Given the description of an element on the screen output the (x, y) to click on. 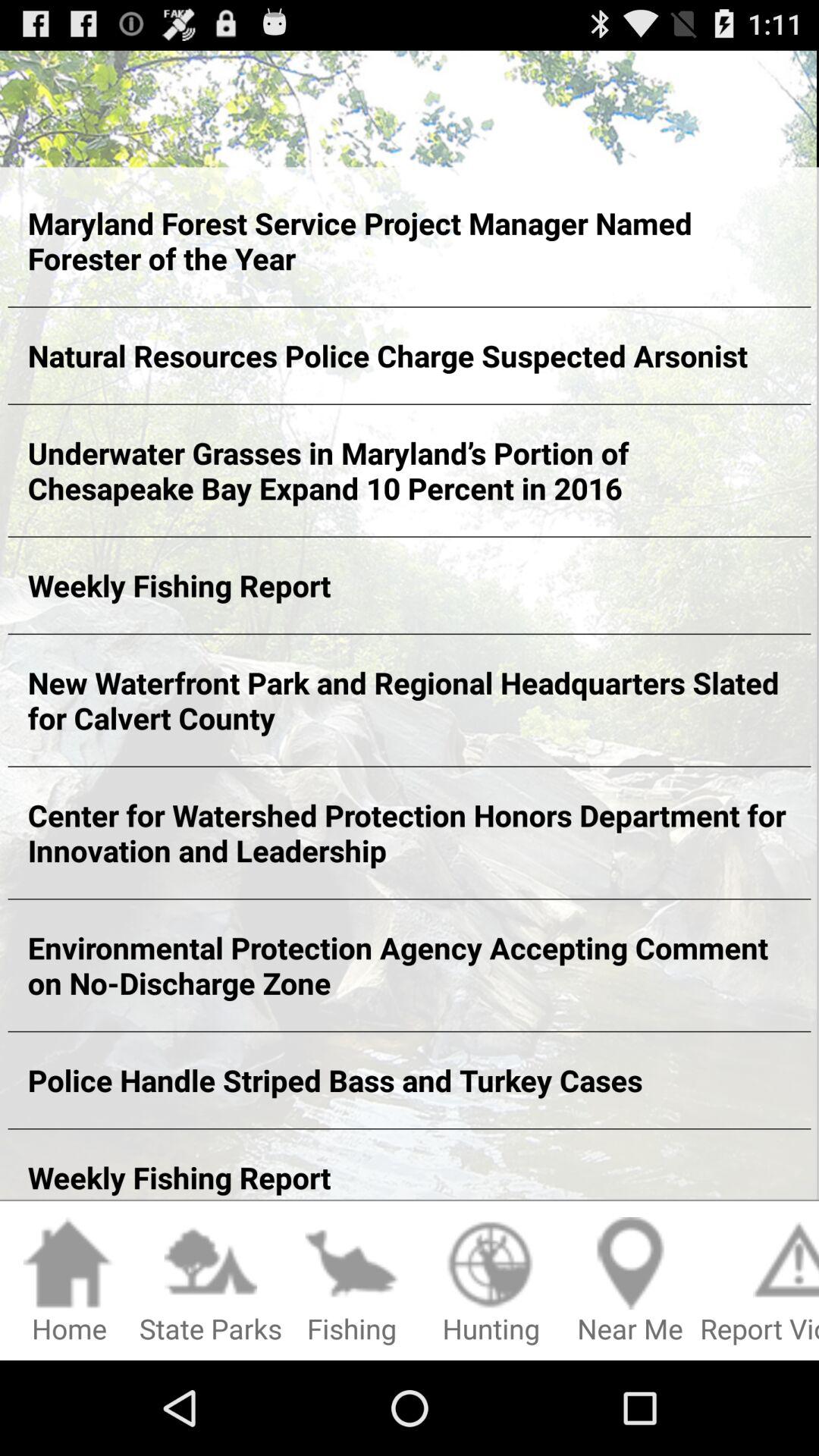
jump until the state parks (210, 1282)
